Given the description of an element on the screen output the (x, y) to click on. 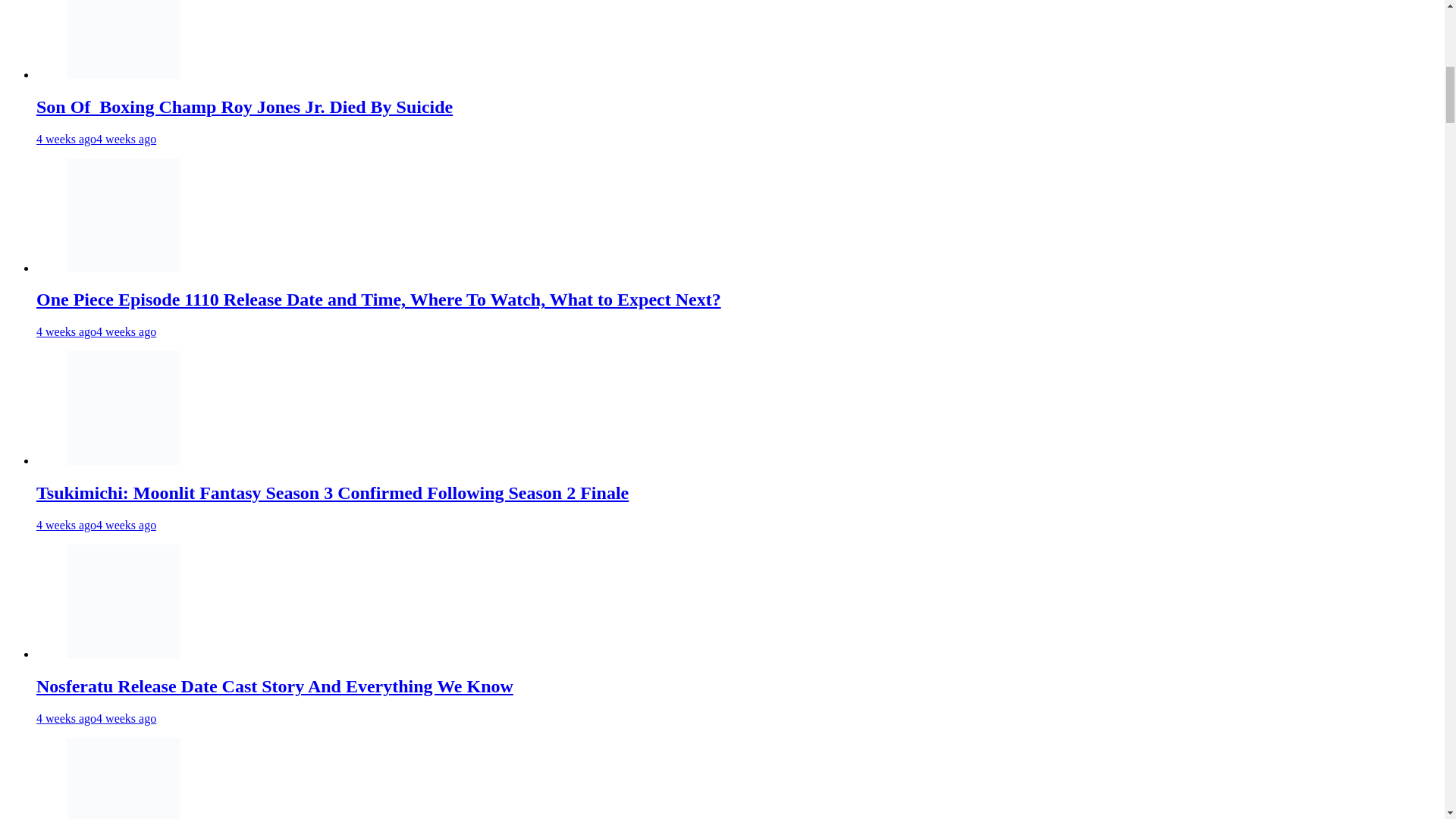
4 weeks ago4 weeks ago (95, 524)
Nosferatu Release Date Cast Story And Everything We Know (274, 686)
4 weeks ago4 weeks ago (95, 137)
Son Of  Boxing Champ Roy Jones Jr. Died By Suicide (244, 107)
4 weeks ago4 weeks ago (95, 331)
